Given the description of an element on the screen output the (x, y) to click on. 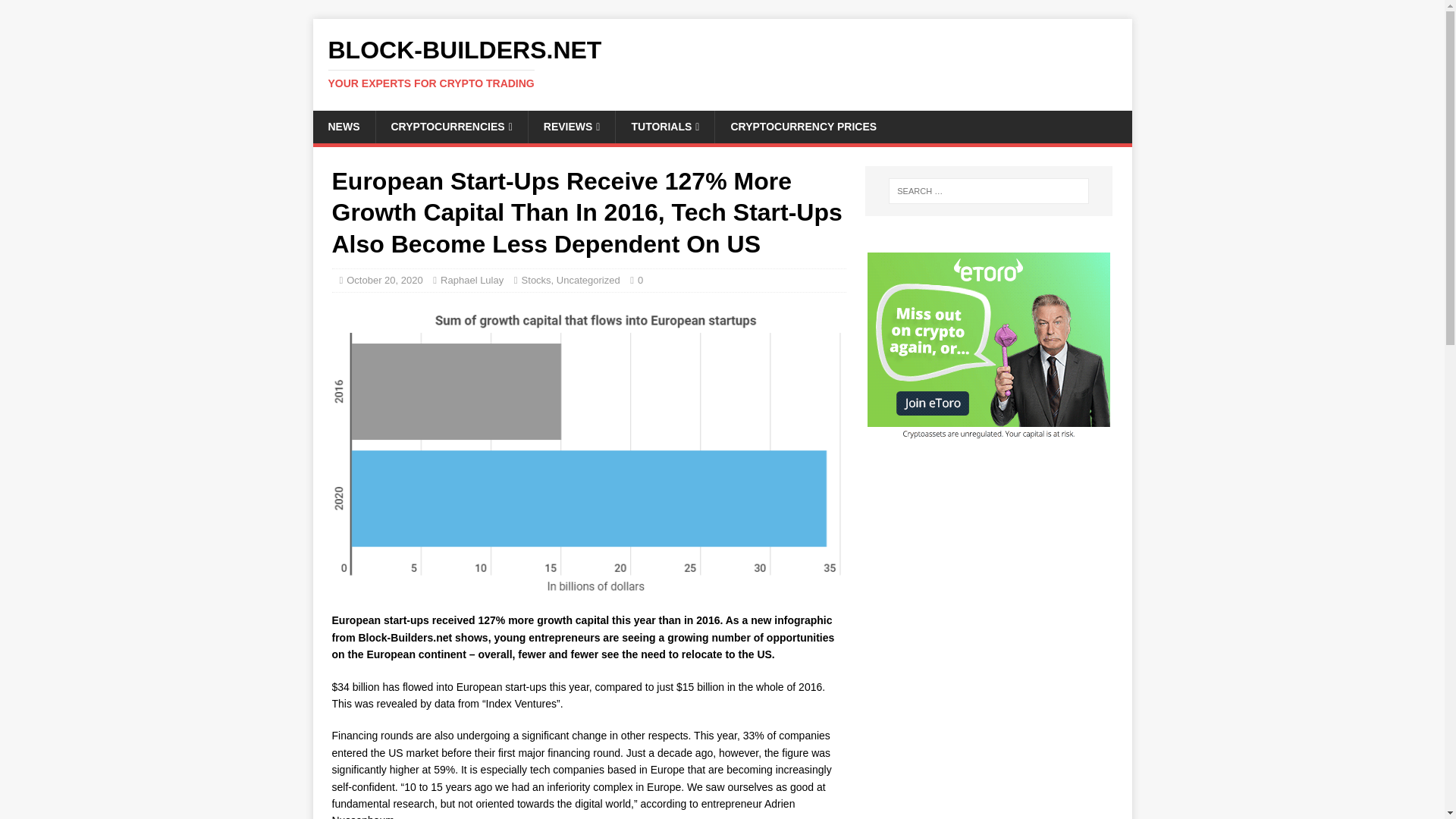
Raphael Lulay (472, 279)
Block-builders.net (721, 63)
Uncategorized (588, 279)
Stocks (536, 279)
TUTORIALS (664, 126)
October 20, 2020 (384, 279)
CRYPTOCURRENCY PRICES (721, 63)
